Given the description of an element on the screen output the (x, y) to click on. 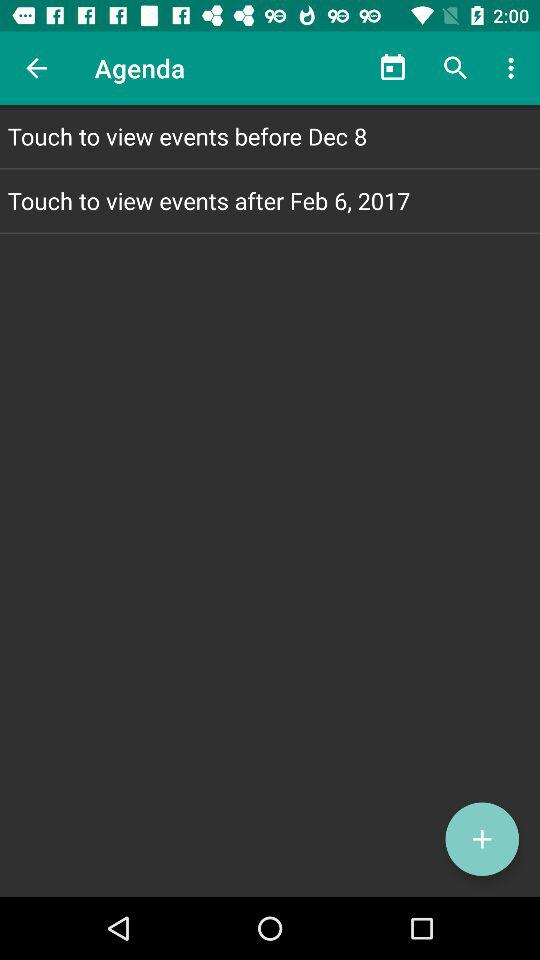
open the icon above touch to view item (392, 67)
